Given the description of an element on the screen output the (x, y) to click on. 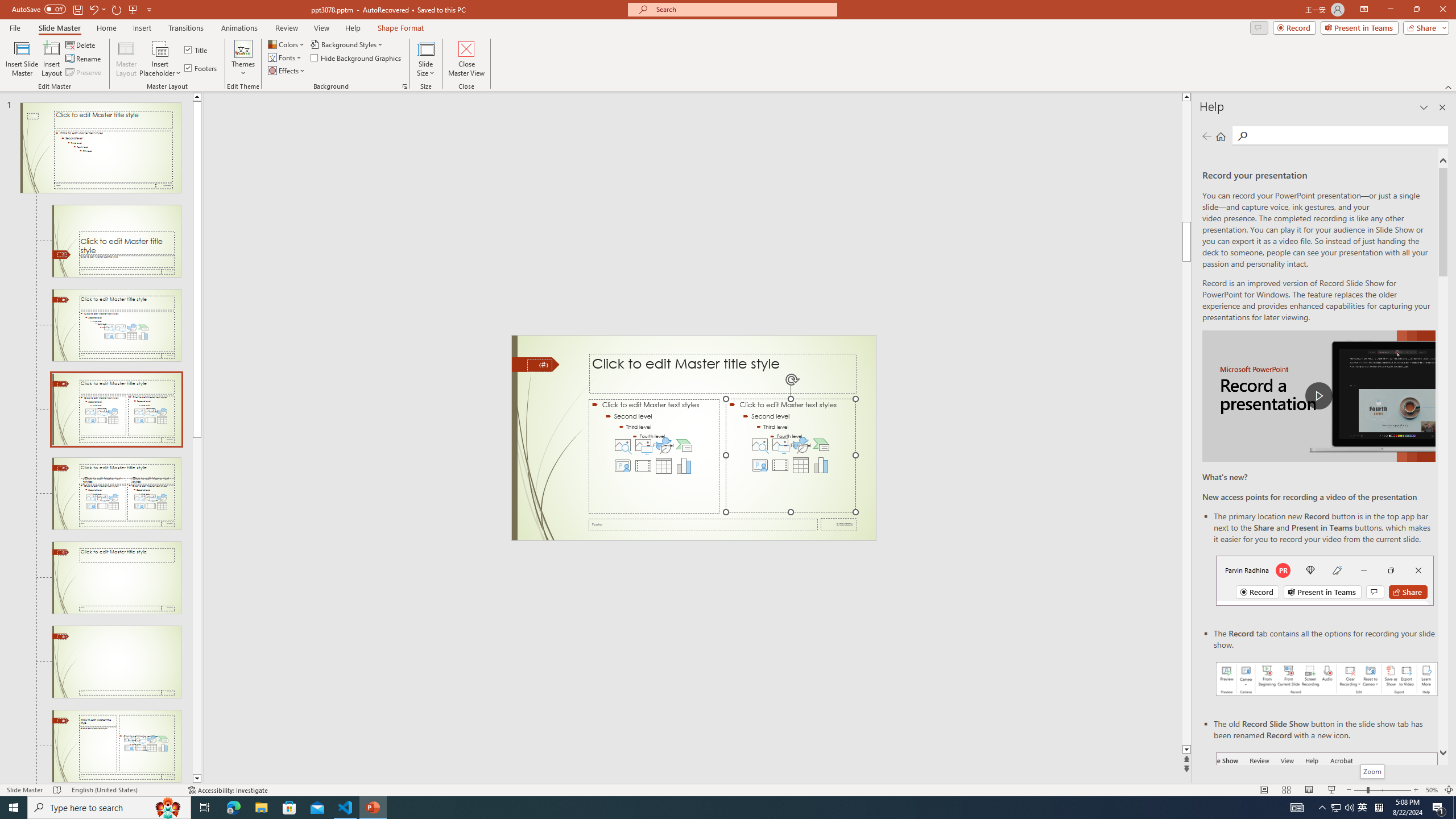
Colors (287, 44)
Slide Master (59, 28)
Date (839, 524)
Footer (703, 524)
